Given the description of an element on the screen output the (x, y) to click on. 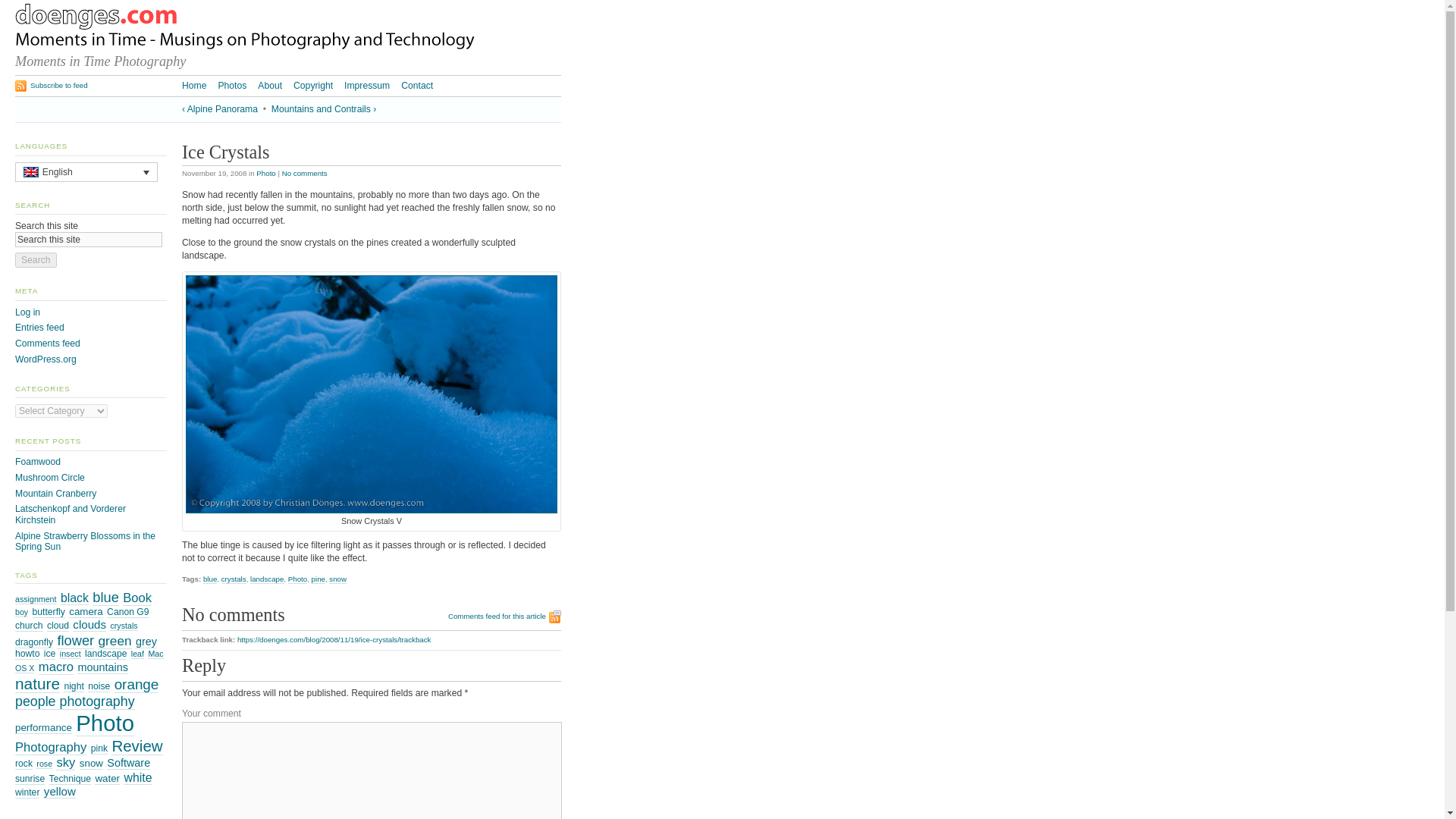
Comments feed for this article (504, 617)
Mountain Cranberry (55, 493)
boy (20, 612)
WordPress.org (45, 358)
Search (35, 259)
assignment (35, 599)
Log in (27, 312)
Search (35, 259)
English (85, 171)
Snow Crystals V (371, 394)
